Given the description of an element on the screen output the (x, y) to click on. 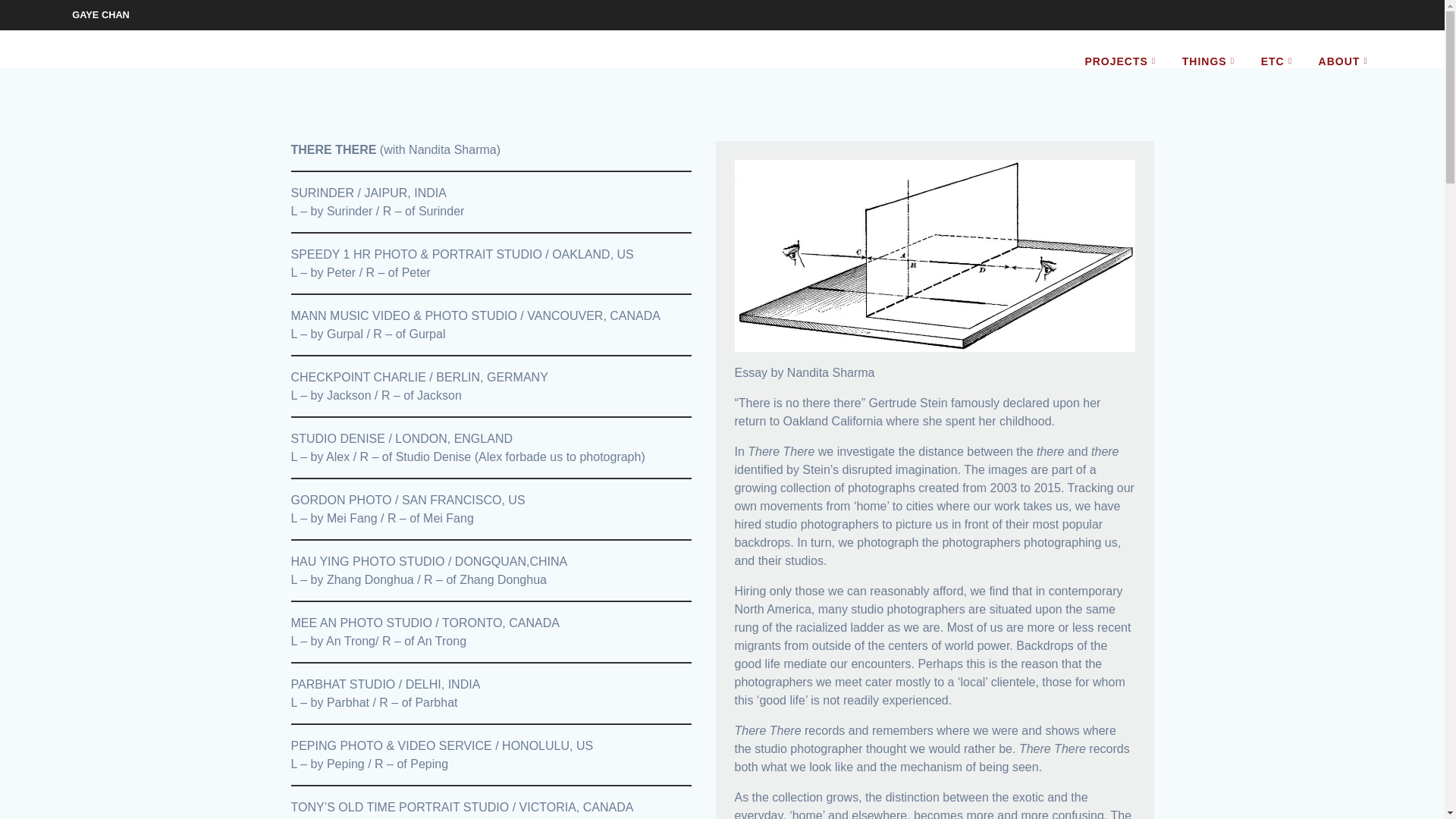
PROJECTS (1122, 61)
ETC (1279, 61)
THINGS (1211, 61)
GAYE CHAN (100, 14)
ABOUT (1346, 61)
